Given the description of an element on the screen output the (x, y) to click on. 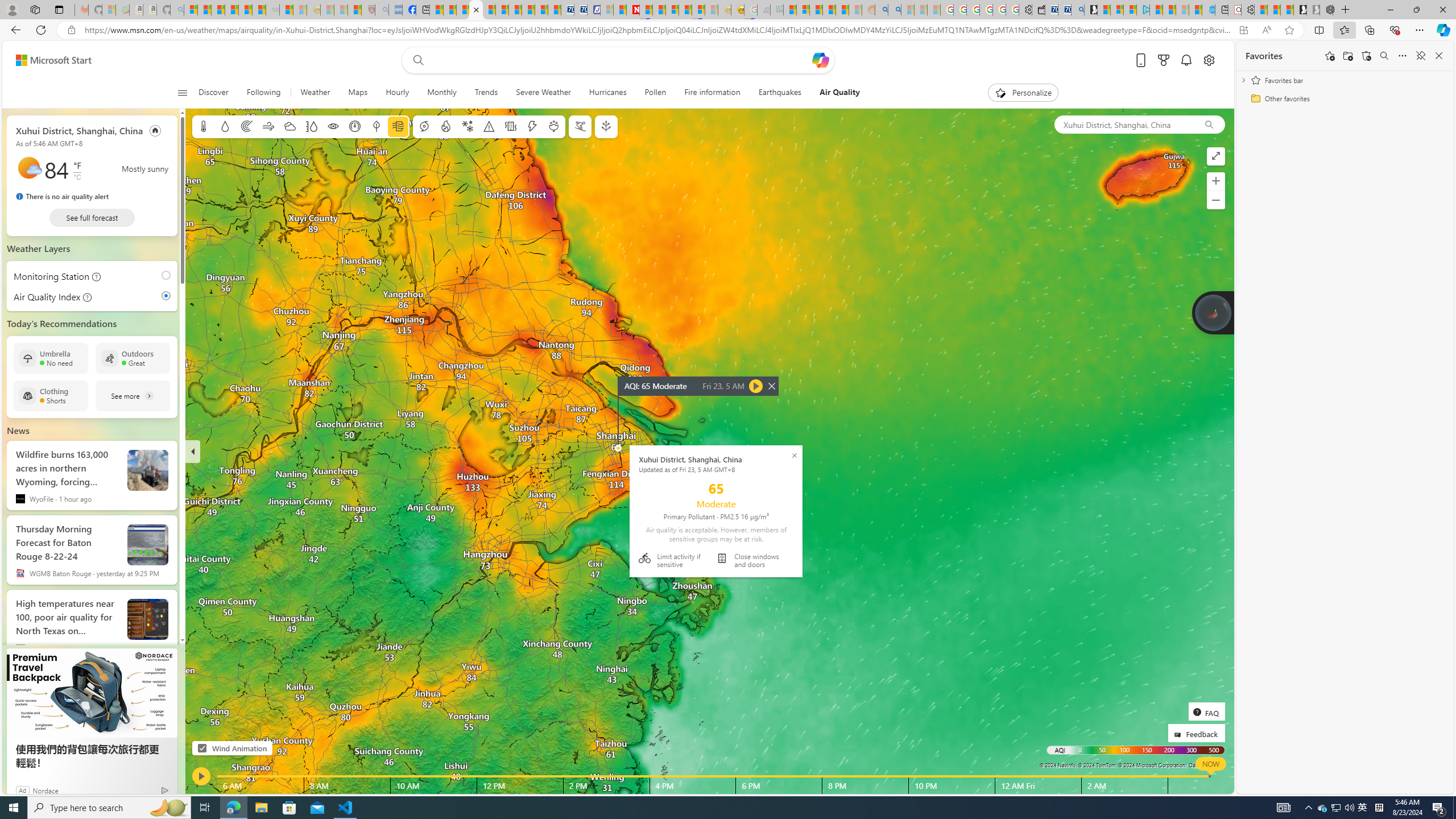
Outdoors Great (133, 358)
Ski conditions (579, 126)
Weather (315, 92)
WGMB Baton Rouge (20, 573)
News (18, 430)
New Report Confirms 2023 Was Record Hot | Watch (245, 9)
Visibility (333, 126)
Monitoring Station (48, 275)
